Given the description of an element on the screen output the (x, y) to click on. 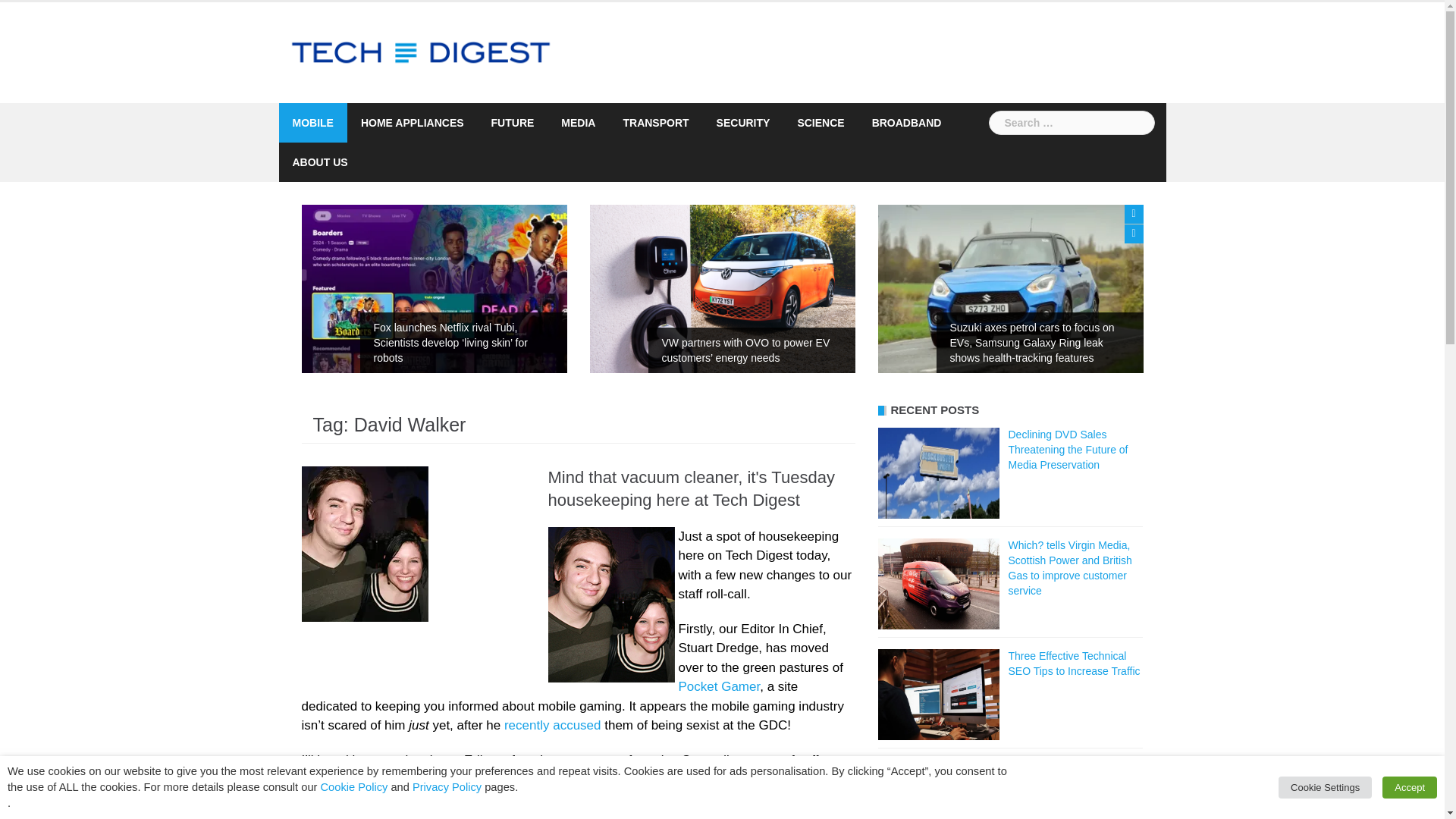
HOME APPLIANCES (412, 122)
FUTURE (513, 122)
Tech Digest (421, 51)
MOBILE (312, 122)
